Given the description of an element on the screen output the (x, y) to click on. 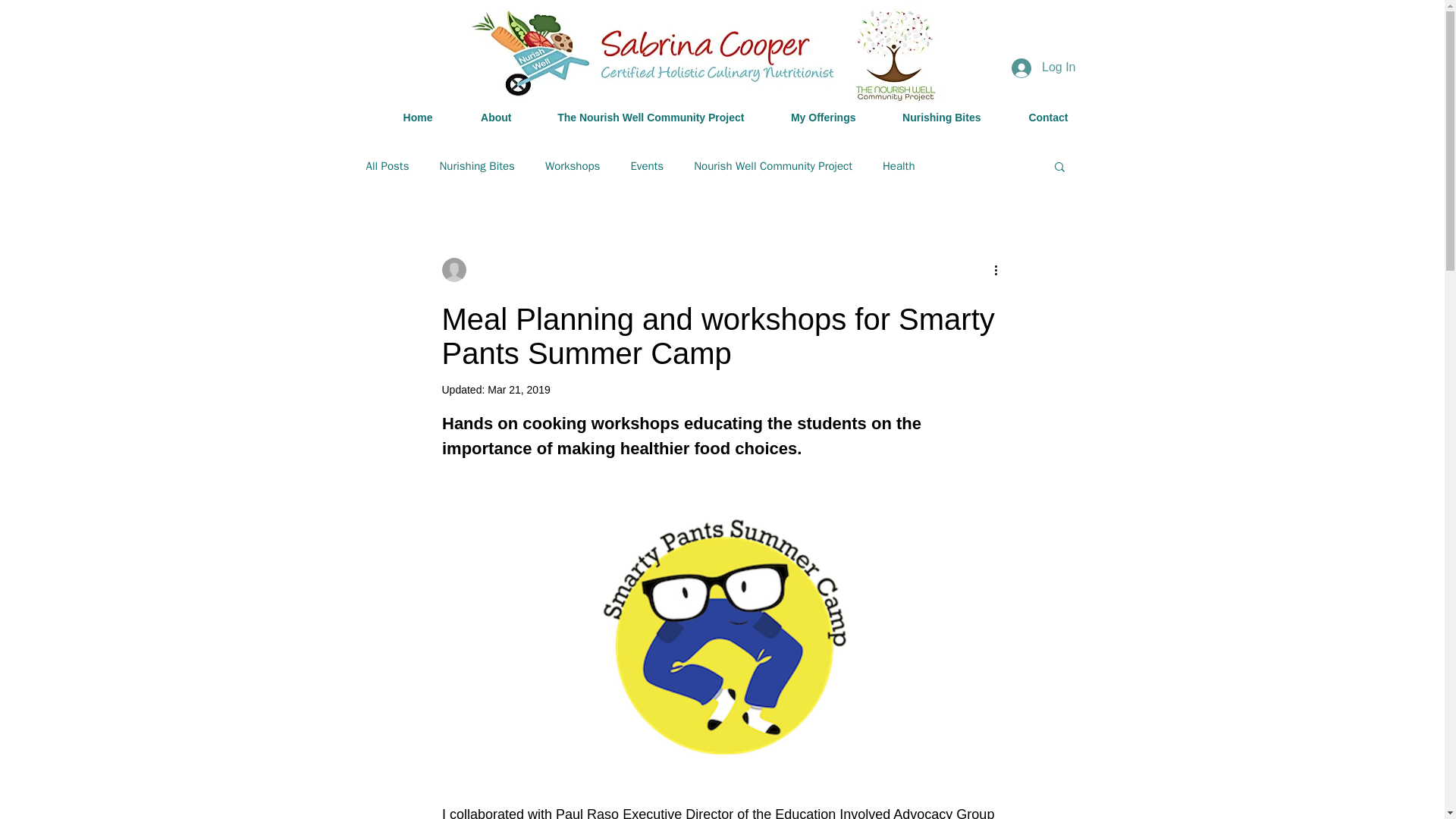
Nurishing Bites (476, 165)
My Offerings (810, 117)
The Nourish Well Community Project (638, 117)
Mar 21, 2019 (518, 389)
Nurishing Bites (929, 117)
Contact (1034, 117)
All Posts (387, 165)
Events (646, 165)
Nourish Well Community Project (772, 165)
Health (898, 165)
